Given the description of an element on the screen output the (x, y) to click on. 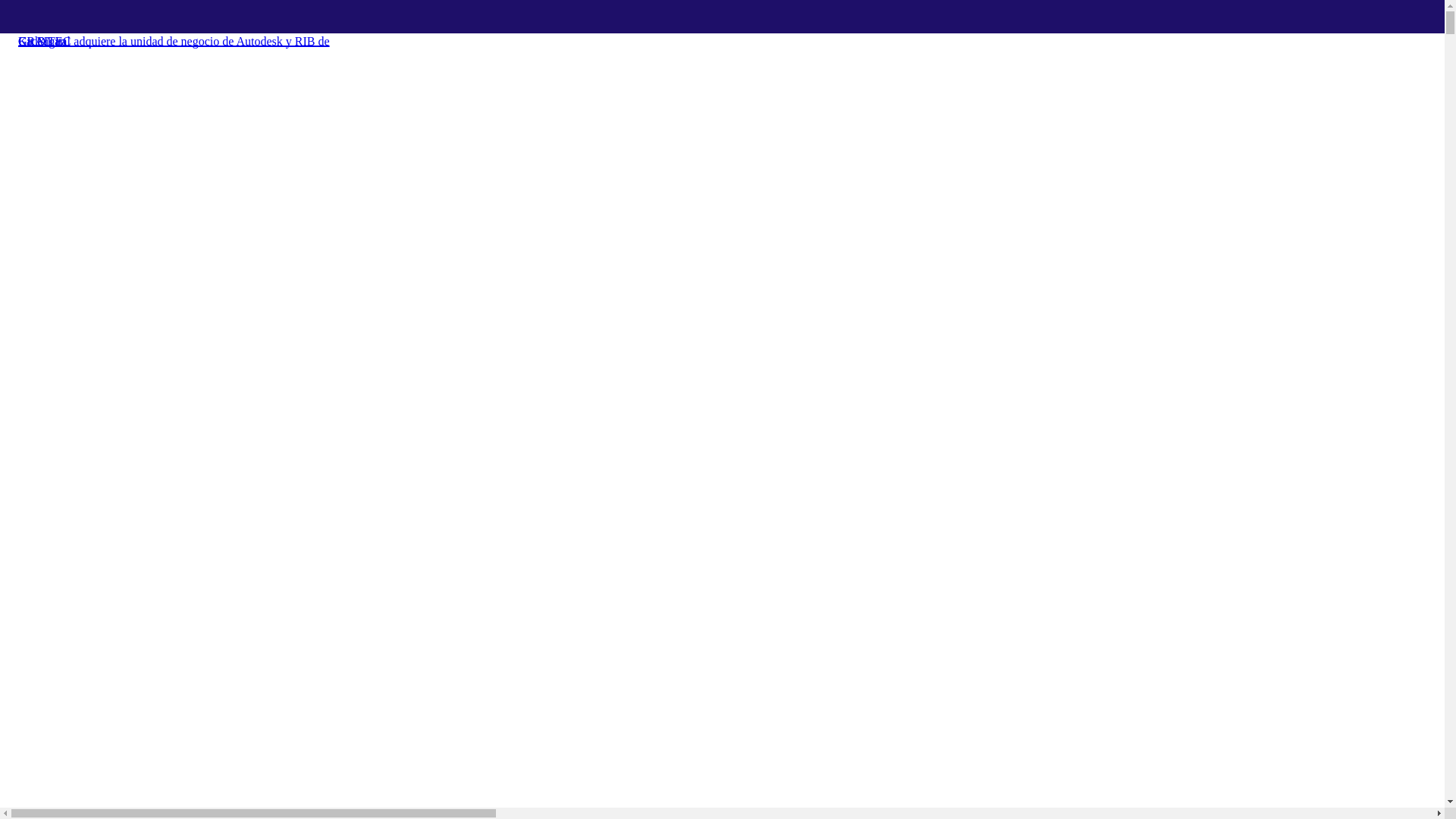
Partner de Habitat for Humanity Element type: text (96, 51)
